Given the description of an element on the screen output the (x, y) to click on. 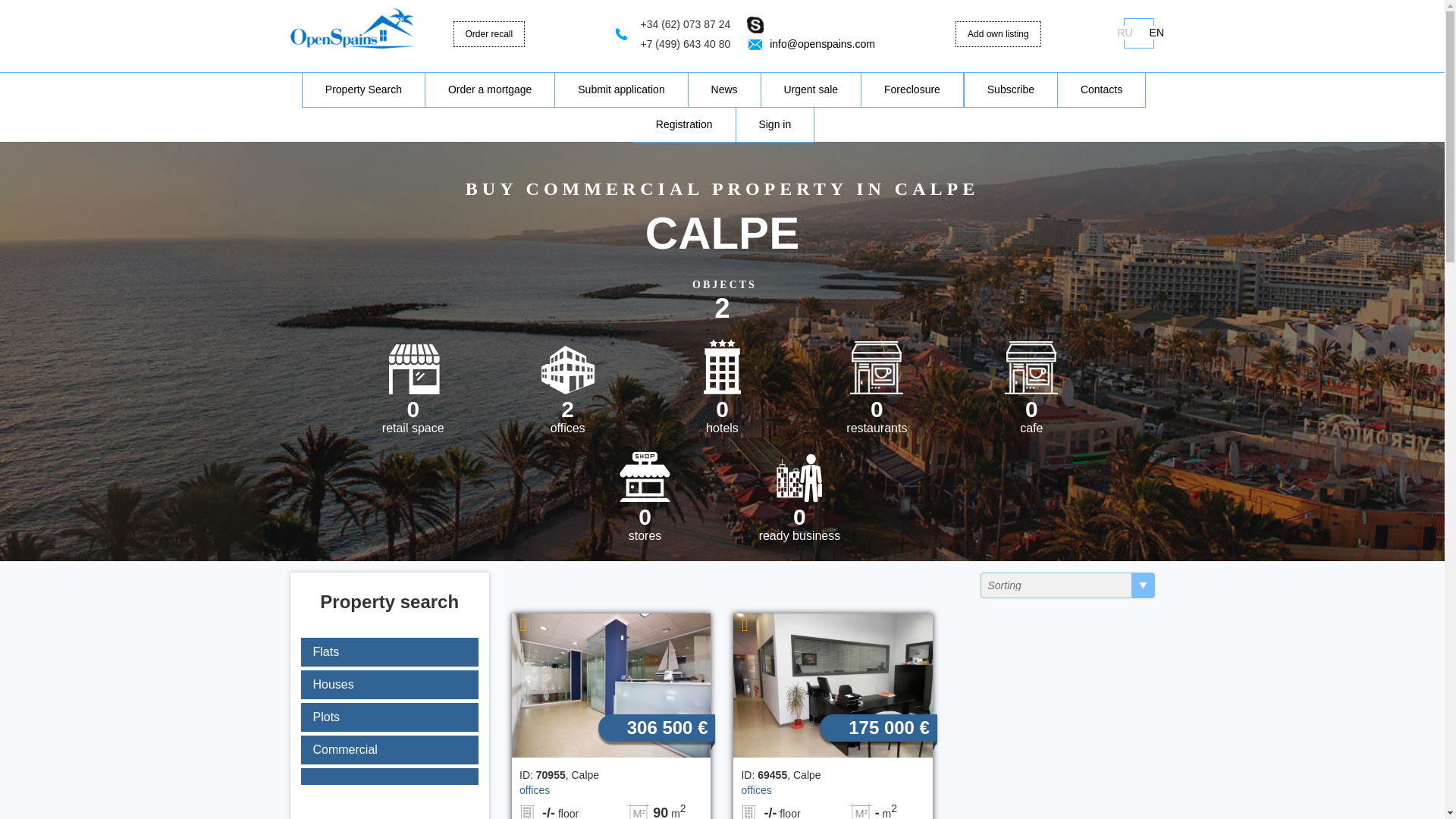
Subscribe (1010, 89)
EN (799, 535)
Contacts (723, 428)
Submit application (1156, 32)
RU (414, 428)
Order a mortgage (877, 428)
Sign in (646, 535)
Add own listing (1101, 89)
OpenSpains (620, 89)
